Given the description of an element on the screen output the (x, y) to click on. 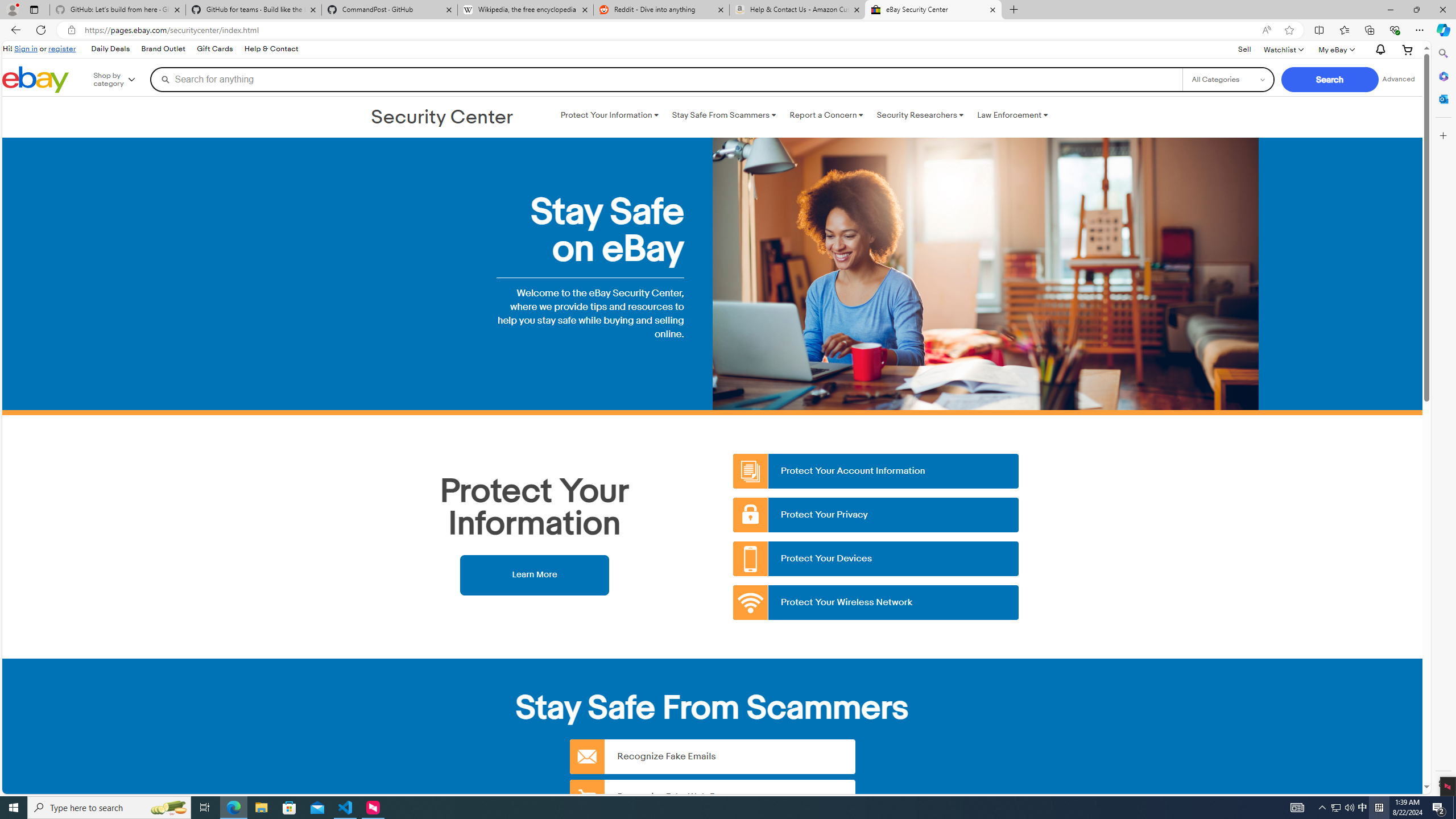
Security Researchers  (919, 115)
Protect Your Privacy (876, 514)
Brand Outlet (162, 49)
My eBay (1335, 49)
Protect Your Devices (876, 558)
Wikipedia, the free encyclopedia (525, 9)
Advanced Search (1398, 78)
